Given the description of an element on the screen output the (x, y) to click on. 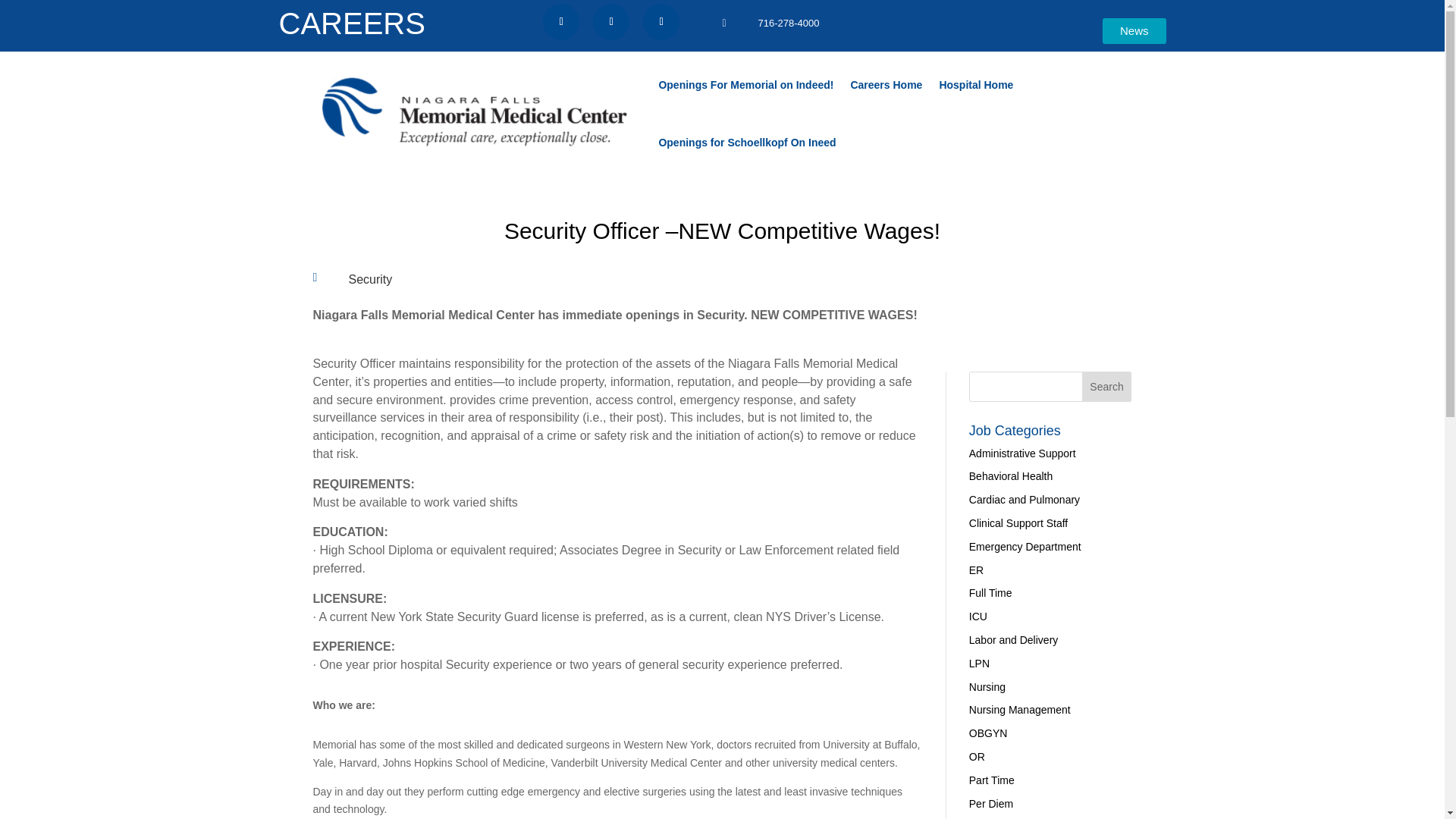
OBGYN (988, 733)
Follow on Facebook (561, 22)
Security (371, 278)
Search (1106, 386)
Behavioral Health (1010, 476)
Full Time (990, 592)
Openings For Memorial on Indeed! (745, 84)
News (1134, 31)
Labor and Delivery (1013, 639)
Part Time (991, 779)
OR (977, 756)
716-278-4000 (788, 22)
Administrative Support (1022, 453)
Follow on LinkedIn (610, 22)
Careers Home (885, 84)
